Given the description of an element on the screen output the (x, y) to click on. 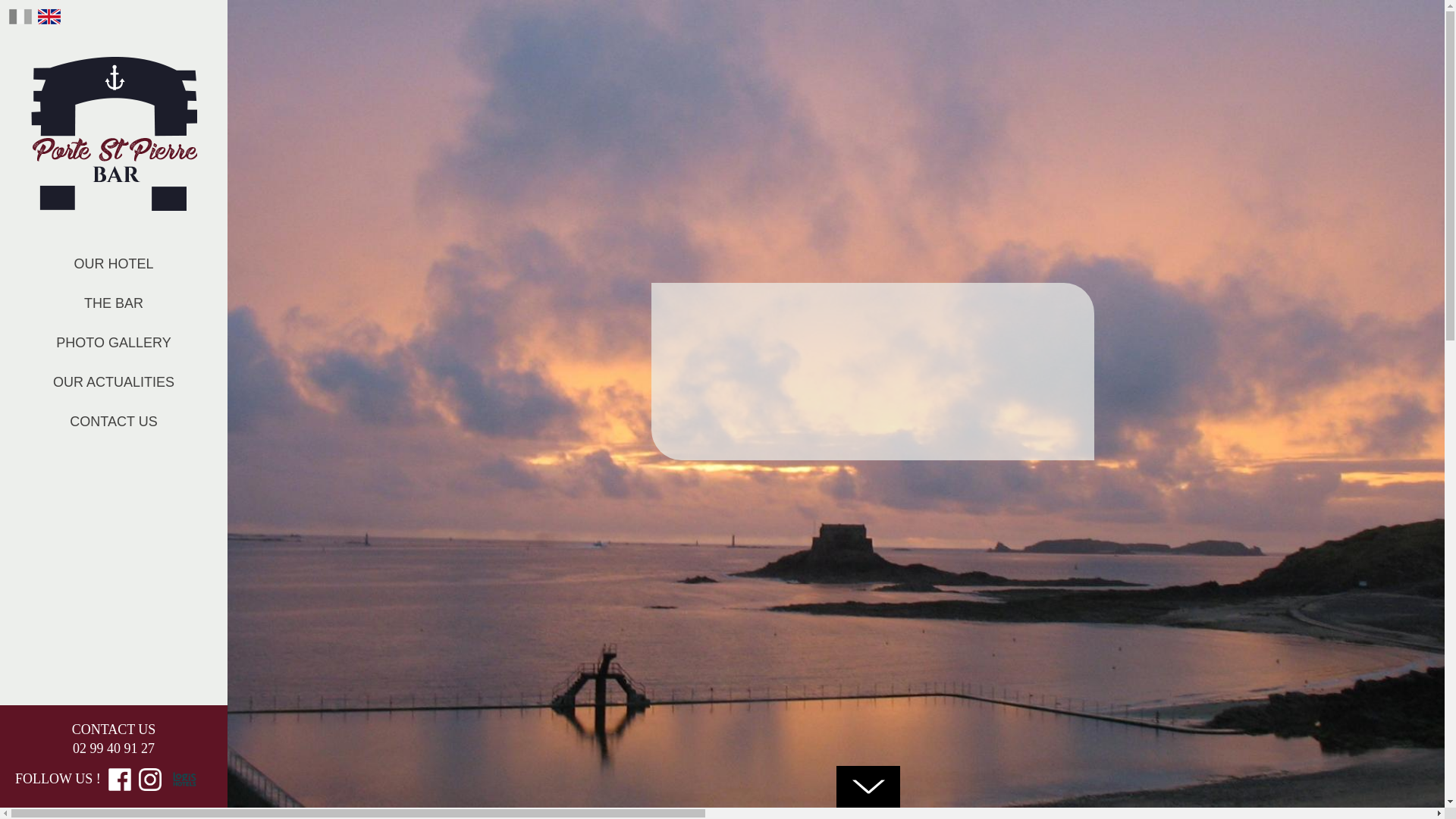
Our Hotel in St Malo near the beach (113, 264)
02 99 40 91 27 (113, 748)
hotel-st-malo (721, 811)
THE BAR (113, 303)
PHOTO GALLERY (113, 343)
hotel restaurant sea view near beach (240, 811)
Photo gallery of the Hotel Porte Saint Pierre (113, 343)
hotel restaurant sea view Brittany (1203, 811)
Contact us the Hotel Porte Saint Pierre (113, 421)
The bar welcomes you close to the sea (113, 303)
Actualities Hotel Porte Saint Pierre St Malo (113, 382)
OUR ACTUALITIES (113, 382)
Bar Porte Saint Pierre (113, 133)
CONTACT US (113, 421)
OUR HOTEL (113, 264)
